Given the description of an element on the screen output the (x, y) to click on. 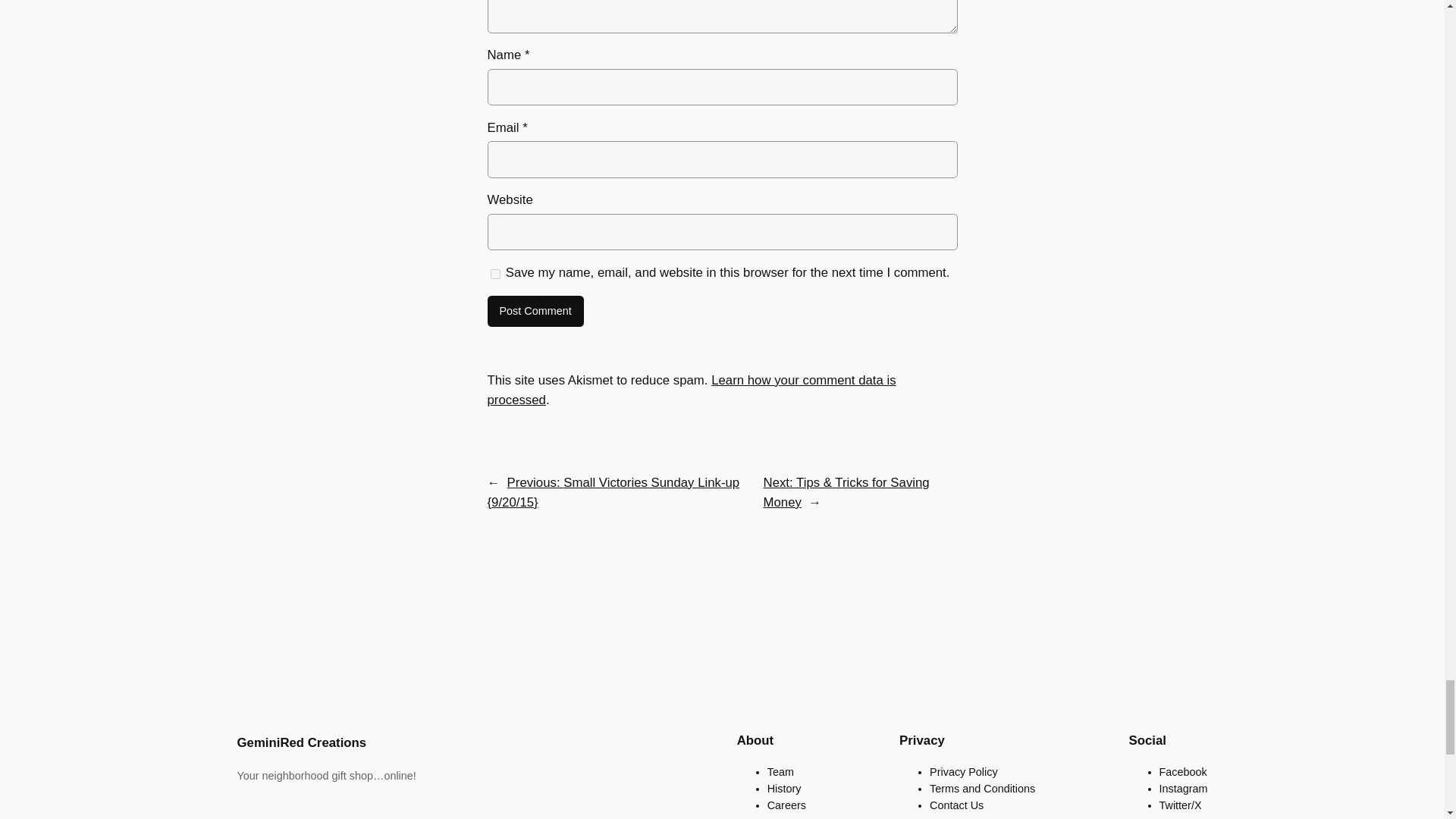
Post Comment (534, 311)
yes (494, 273)
